Given the description of an element on the screen output the (x, y) to click on. 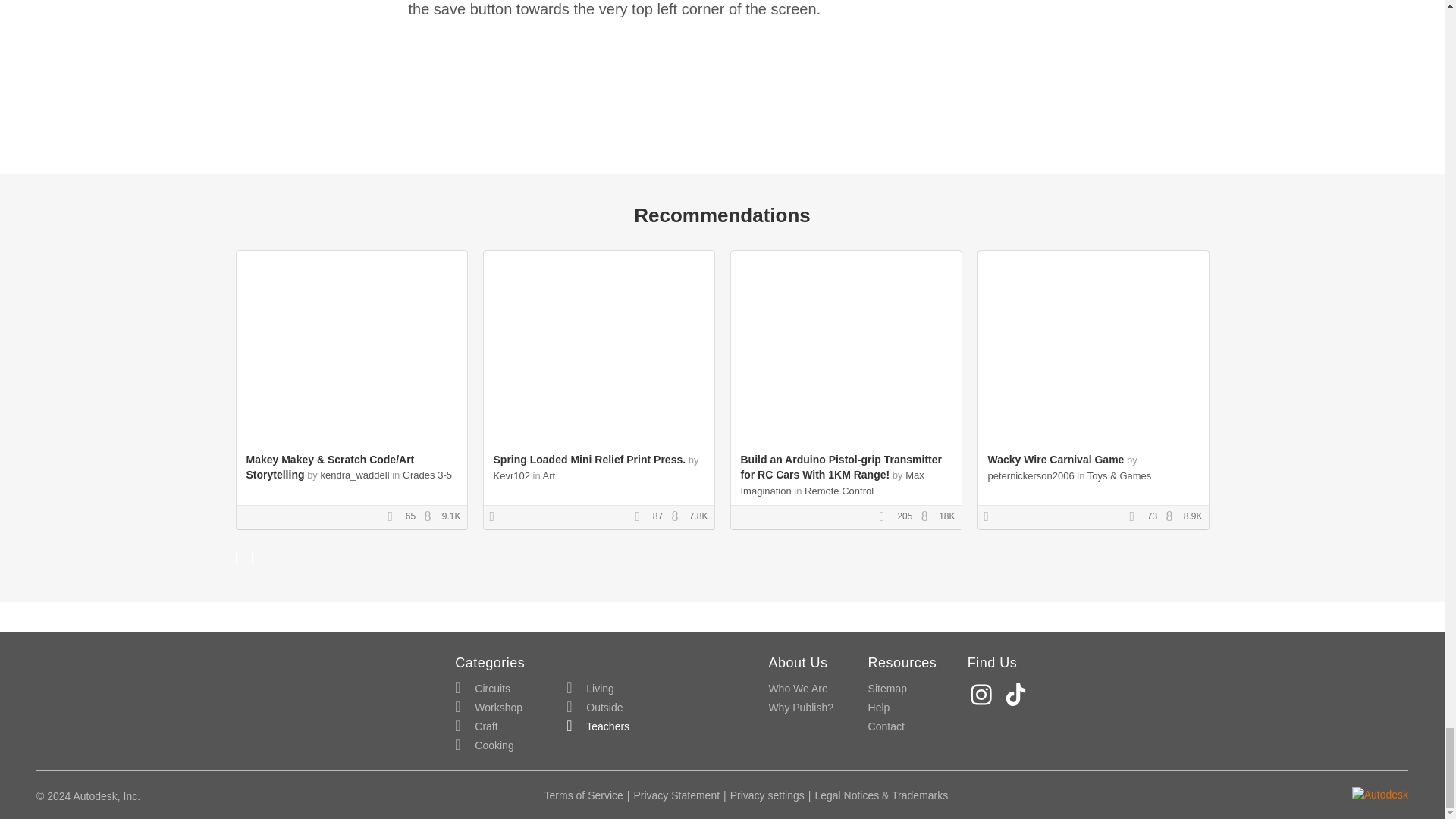
Favorites Count (887, 516)
Kevr102 (511, 475)
Views Count (431, 516)
Who We Are (797, 688)
Views Count (928, 516)
Outside (594, 707)
Views Count (1173, 516)
TikTok (1018, 694)
peternickerson2006 (1030, 475)
Views Count (678, 516)
Grades 3-5 (427, 474)
Contest Winner (497, 516)
Wacky Wire Carnival Game (1055, 459)
Favorites Count (641, 516)
Contest Winner (991, 516)
